Given the description of an element on the screen output the (x, y) to click on. 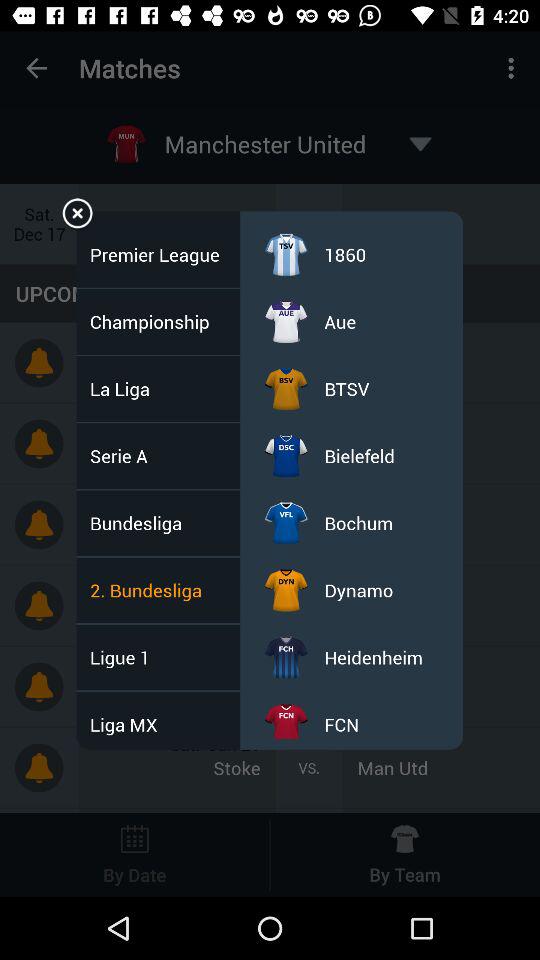
select the item above the bochum (359, 455)
